Given the description of an element on the screen output the (x, y) to click on. 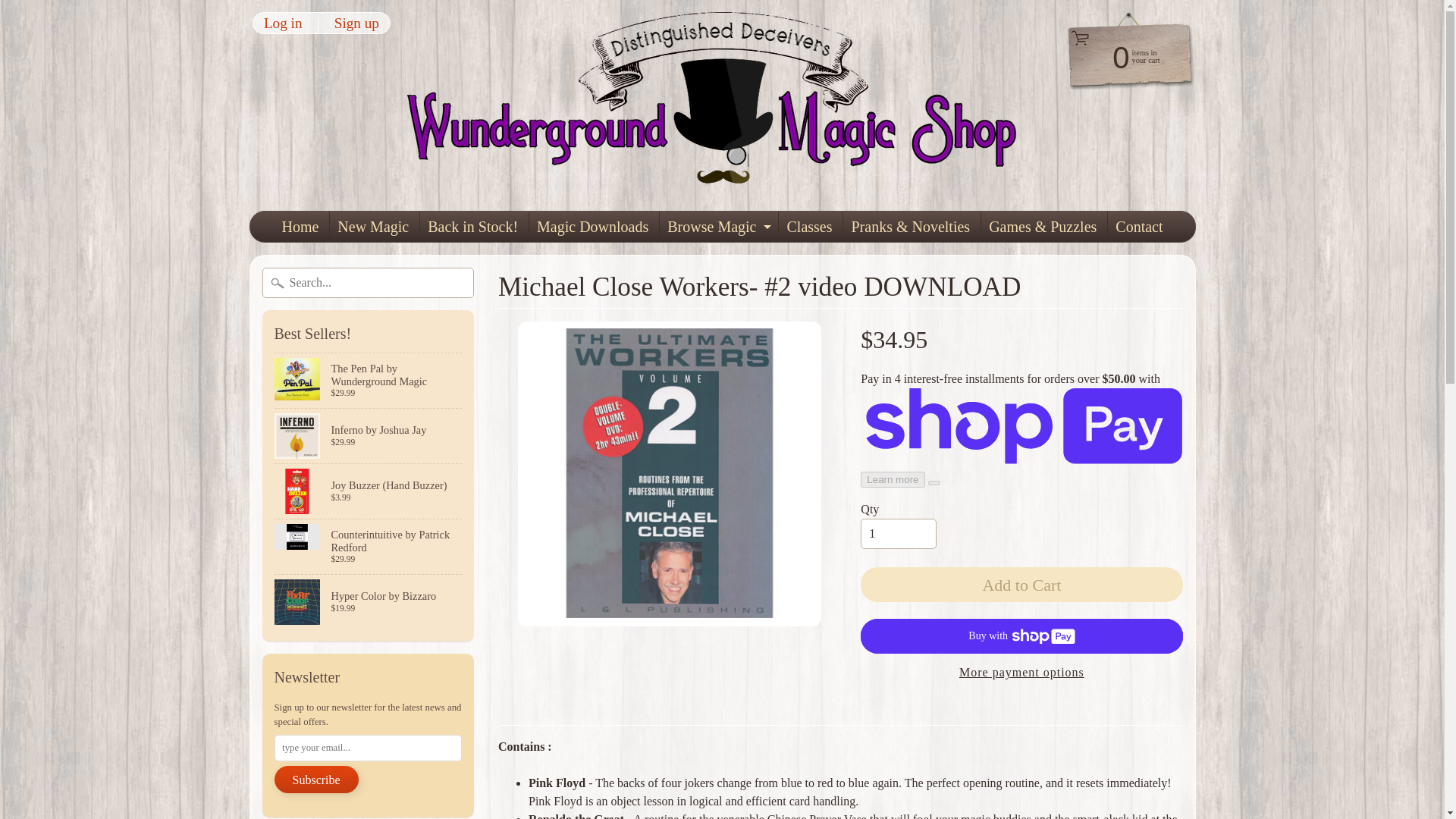
Contact (1139, 226)
Wunderground Magic  (716, 226)
Magic Downloads (722, 105)
Sign up (592, 226)
Inferno by Joshua Jay (356, 22)
1 (369, 435)
Counterintuitive by Patrick Redford (898, 533)
The Pen Pal by Wunderground Magic (369, 546)
Log in (369, 379)
Back in Stock! (283, 22)
Classes (1122, 56)
Home (472, 226)
Hyper Color by Bizzaro (809, 226)
